Given the description of an element on the screen output the (x, y) to click on. 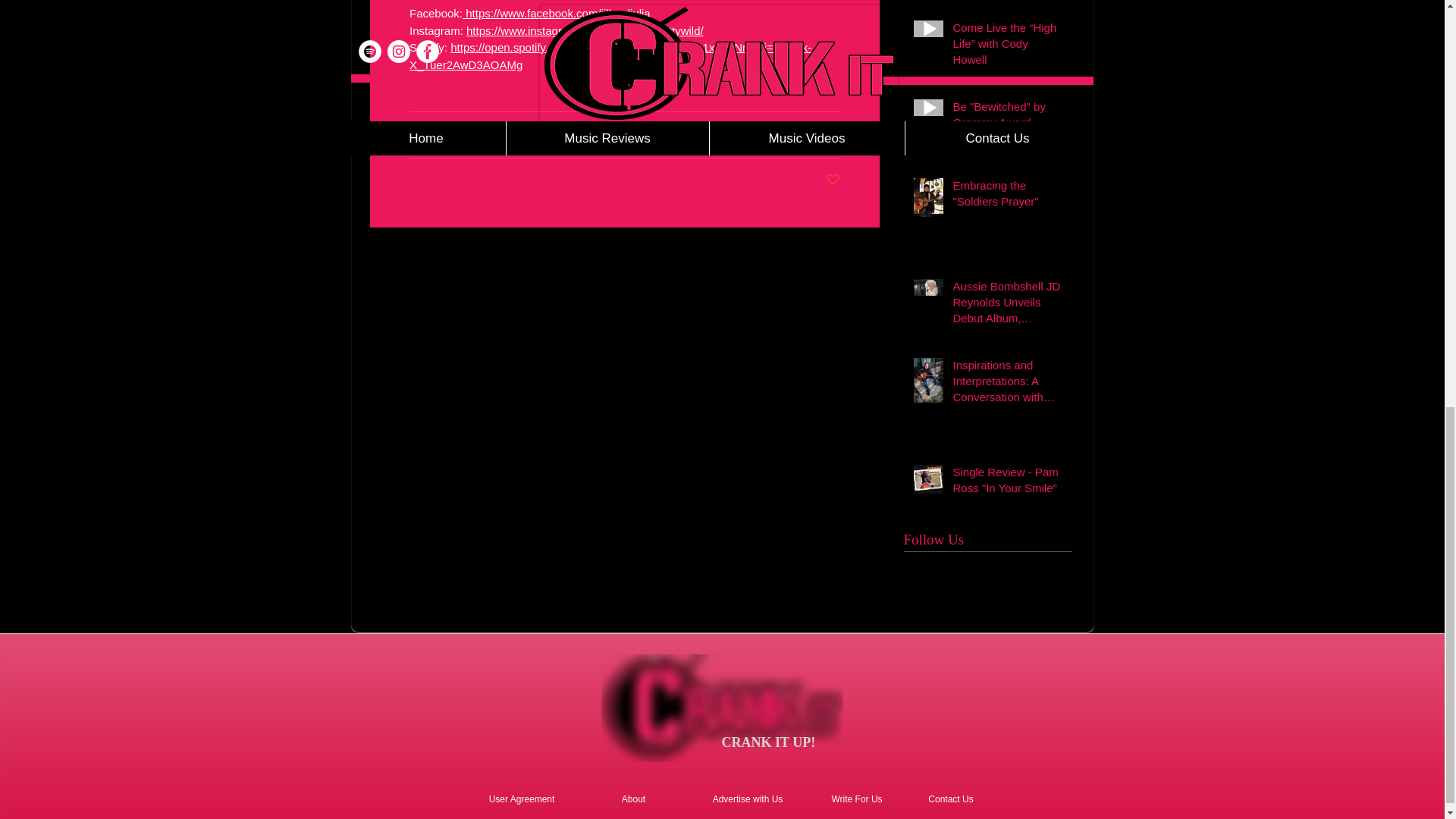
Rock (761, 133)
Country (715, 133)
Alternative (814, 133)
Post not marked as liked (832, 179)
